Given the description of an element on the screen output the (x, y) to click on. 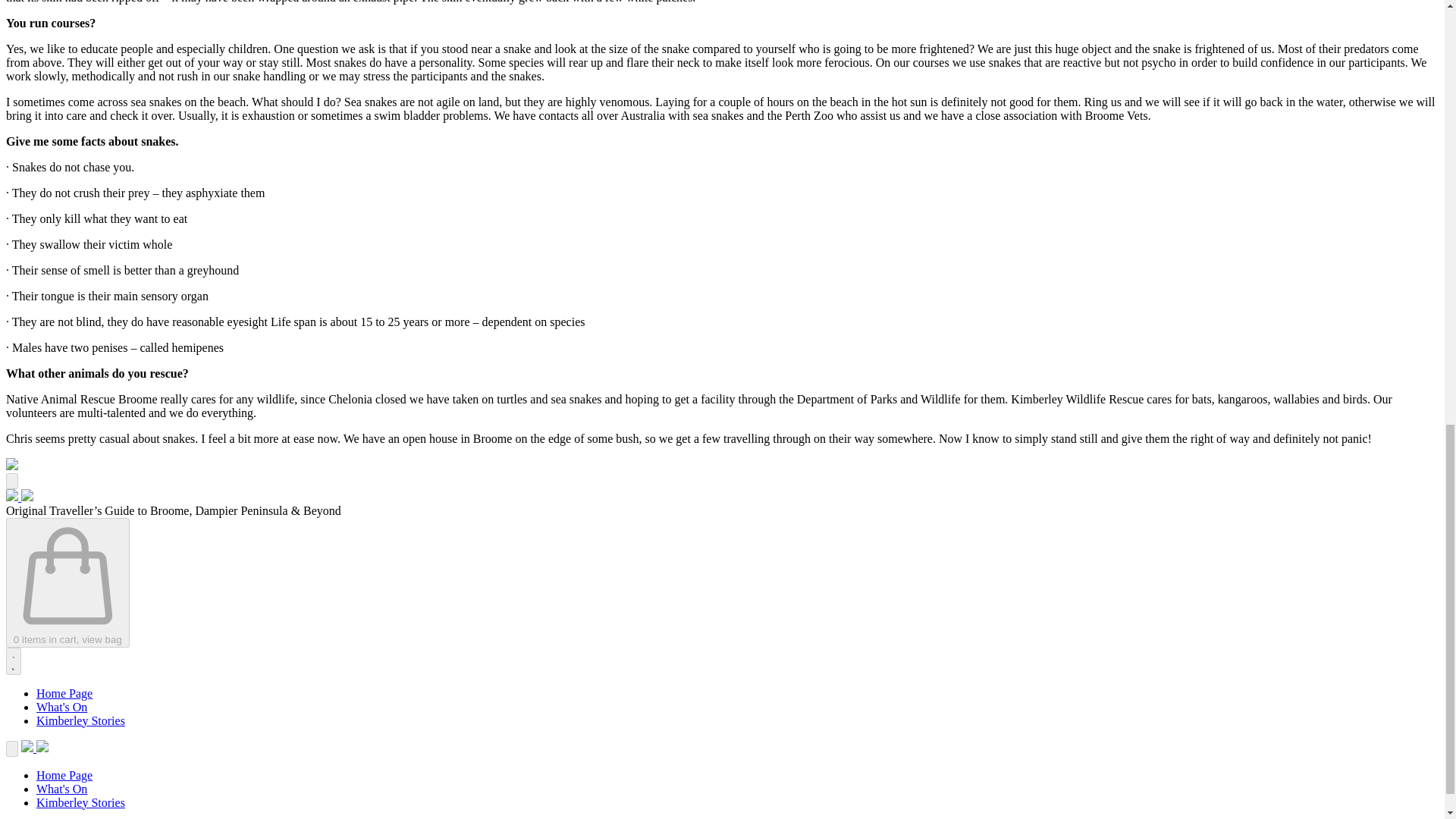
Kimberley Stories (80, 802)
0 items in cart, view bag (67, 582)
Home Page (64, 693)
Kimberley Stories (80, 720)
What's On (61, 707)
What's On (61, 788)
Home Page (64, 775)
